Given the description of an element on the screen output the (x, y) to click on. 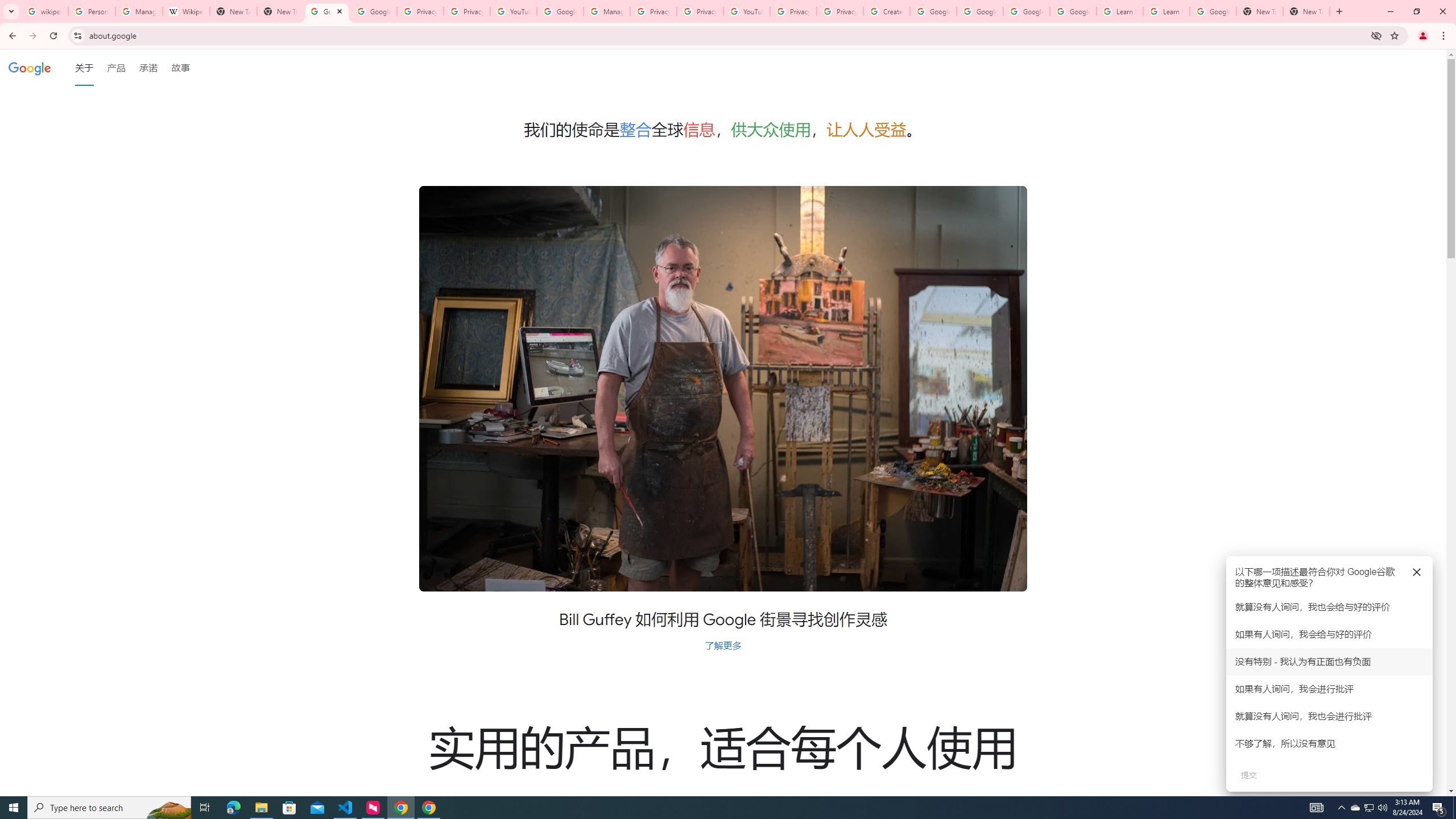
Google Account Help (980, 11)
Google (29, 67)
